Given the description of an element on the screen output the (x, y) to click on. 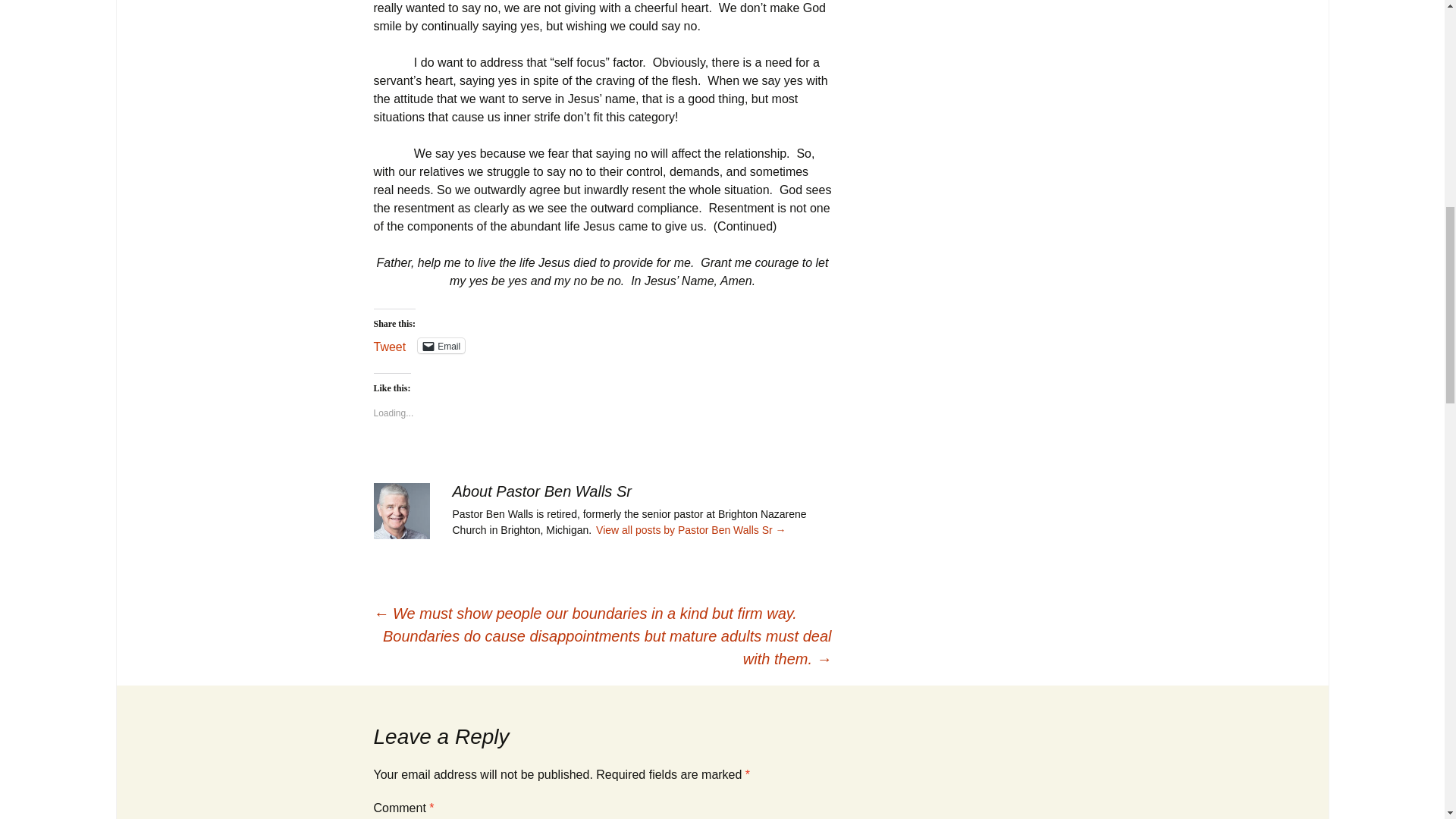
Email (440, 345)
Click to email a link to a friend (440, 345)
Tweet (389, 345)
